Given the description of an element on the screen output the (x, y) to click on. 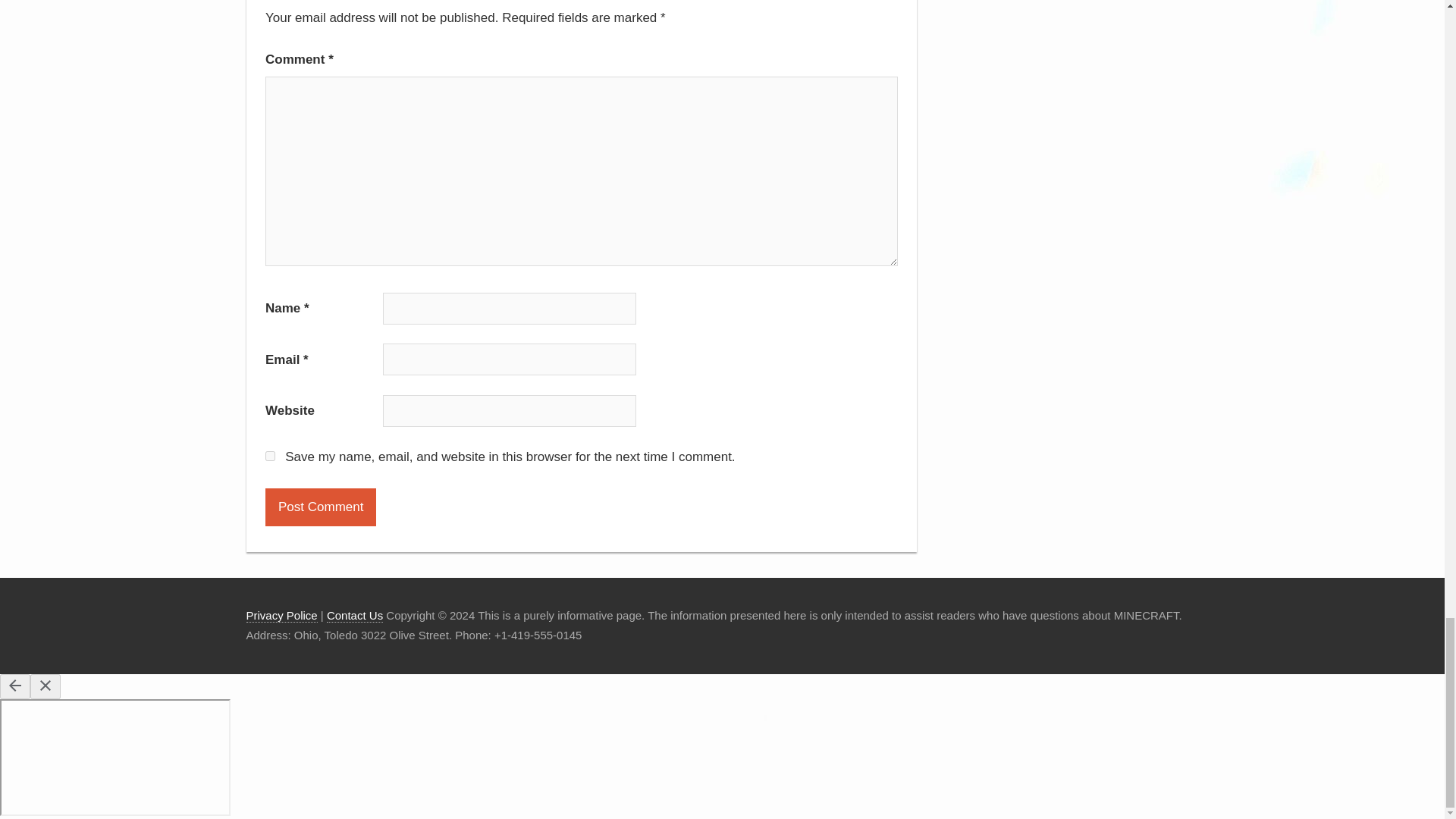
Post Comment (319, 507)
yes (269, 456)
Post Comment (319, 507)
